Given the description of an element on the screen output the (x, y) to click on. 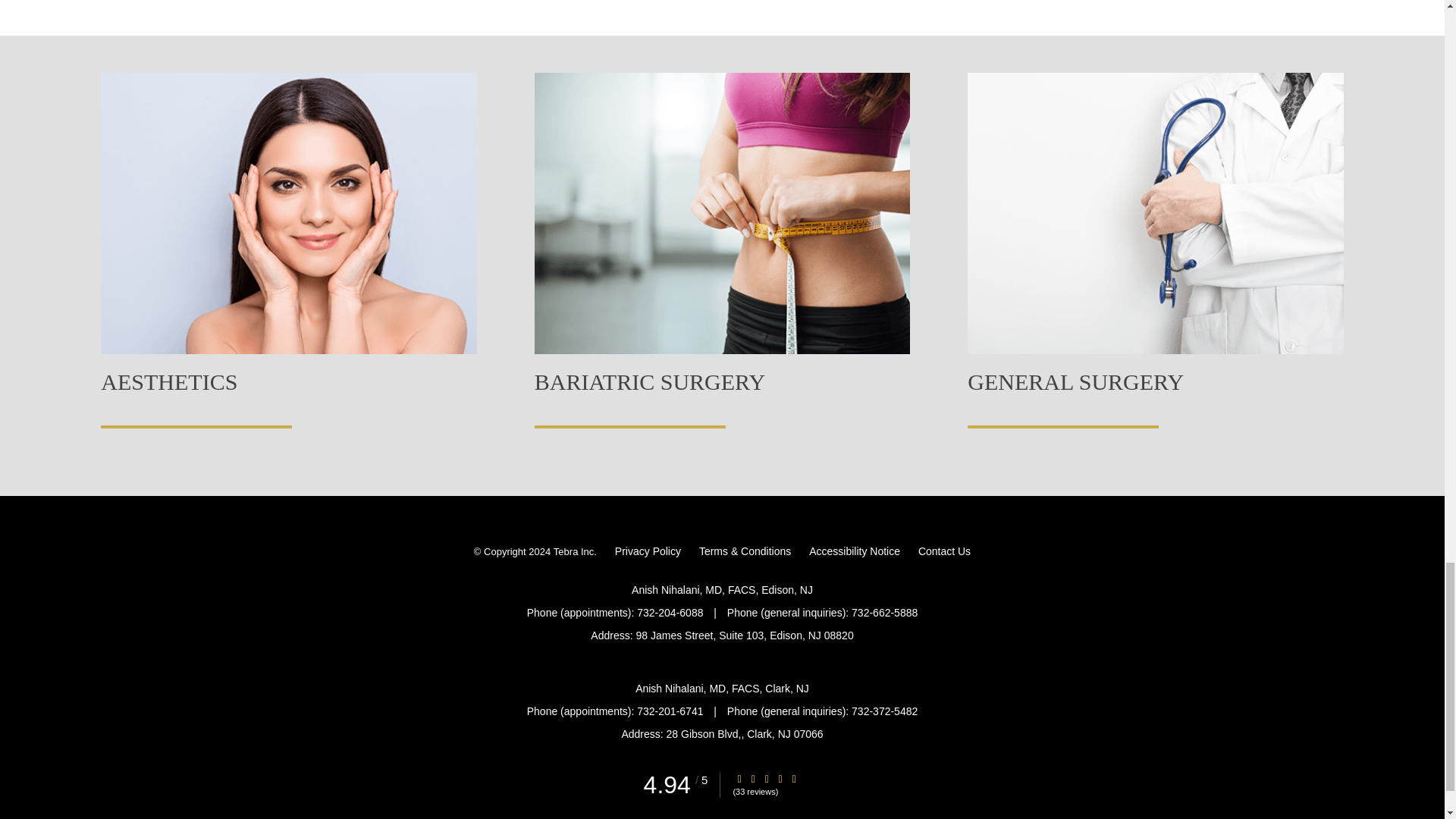
Star Rating (780, 778)
Star Rating (766, 778)
Star Rating (794, 778)
Star Rating (738, 778)
Star Rating (753, 778)
